Given the description of an element on the screen output the (x, y) to click on. 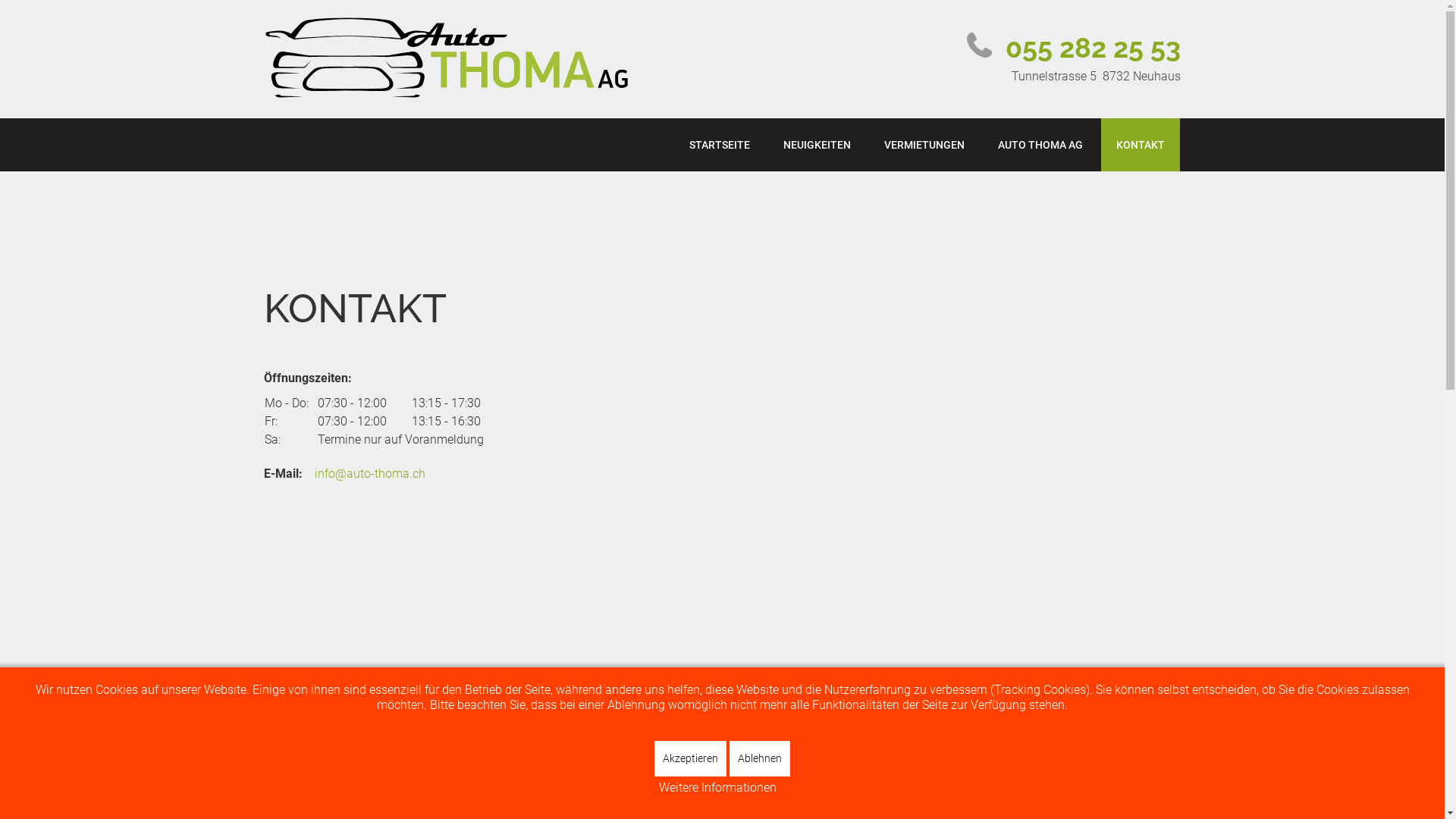
NEUIGKEITEN Element type: text (816, 144)
STARTSEITE Element type: text (718, 144)
info@auto-thoma.ch Element type: text (368, 473)
VERMIETUNGEN Element type: text (924, 144)
Ablehnen Element type: text (759, 758)
AUTO THOMA AG Element type: text (1040, 144)
Weitere Informationen Element type: text (717, 787)
KONTAKT Element type: text (1140, 144)
Akzeptieren Element type: text (690, 758)
